Given the description of an element on the screen output the (x, y) to click on. 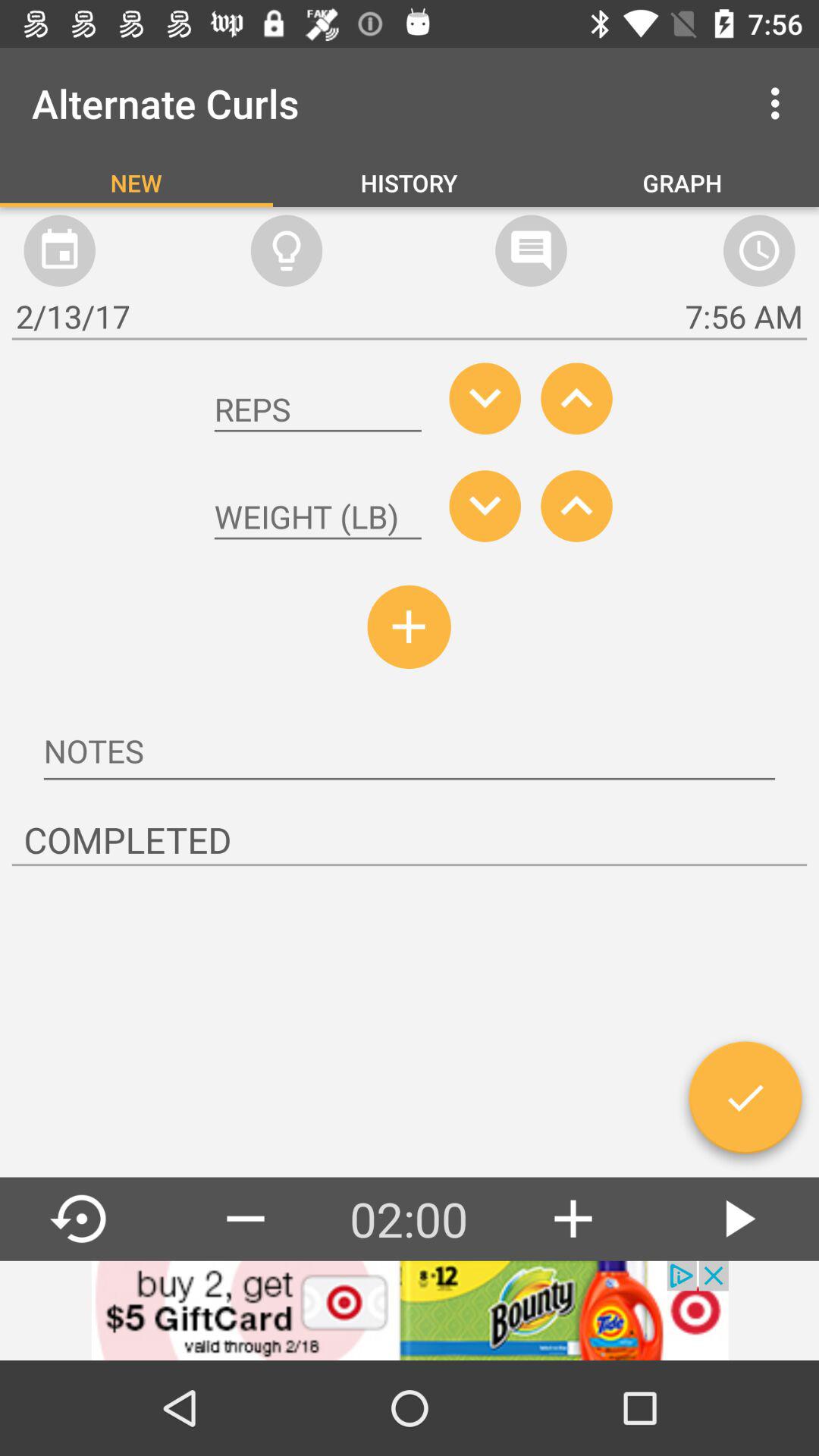
weight dialog box (317, 517)
